Given the description of an element on the screen output the (x, y) to click on. 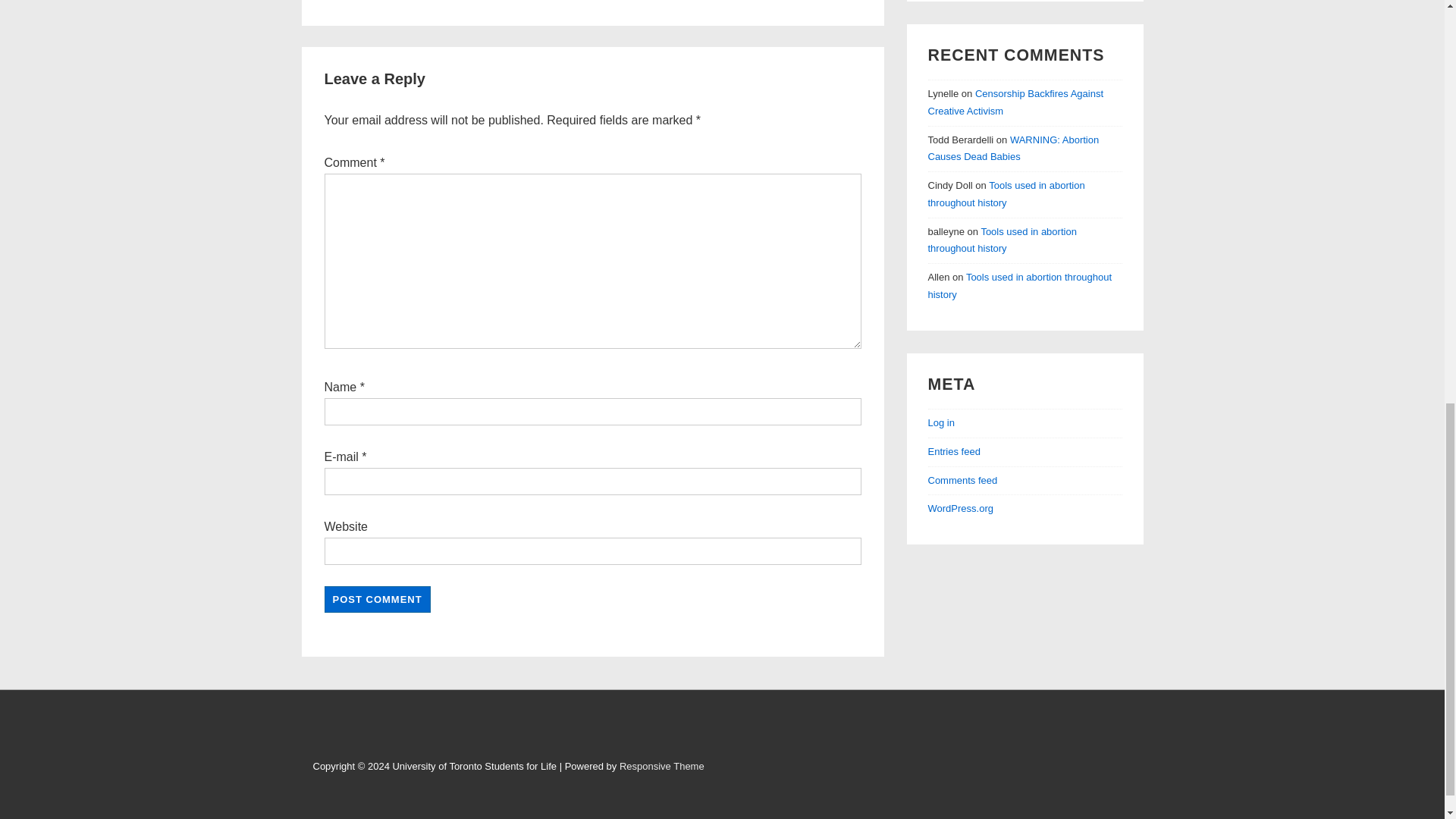
Post Comment (377, 598)
Censorship Backfires Against Creative Activism (1015, 102)
WARNING: Abortion Causes Dead Babies (1013, 148)
Post Comment (377, 598)
